Given the description of an element on the screen output the (x, y) to click on. 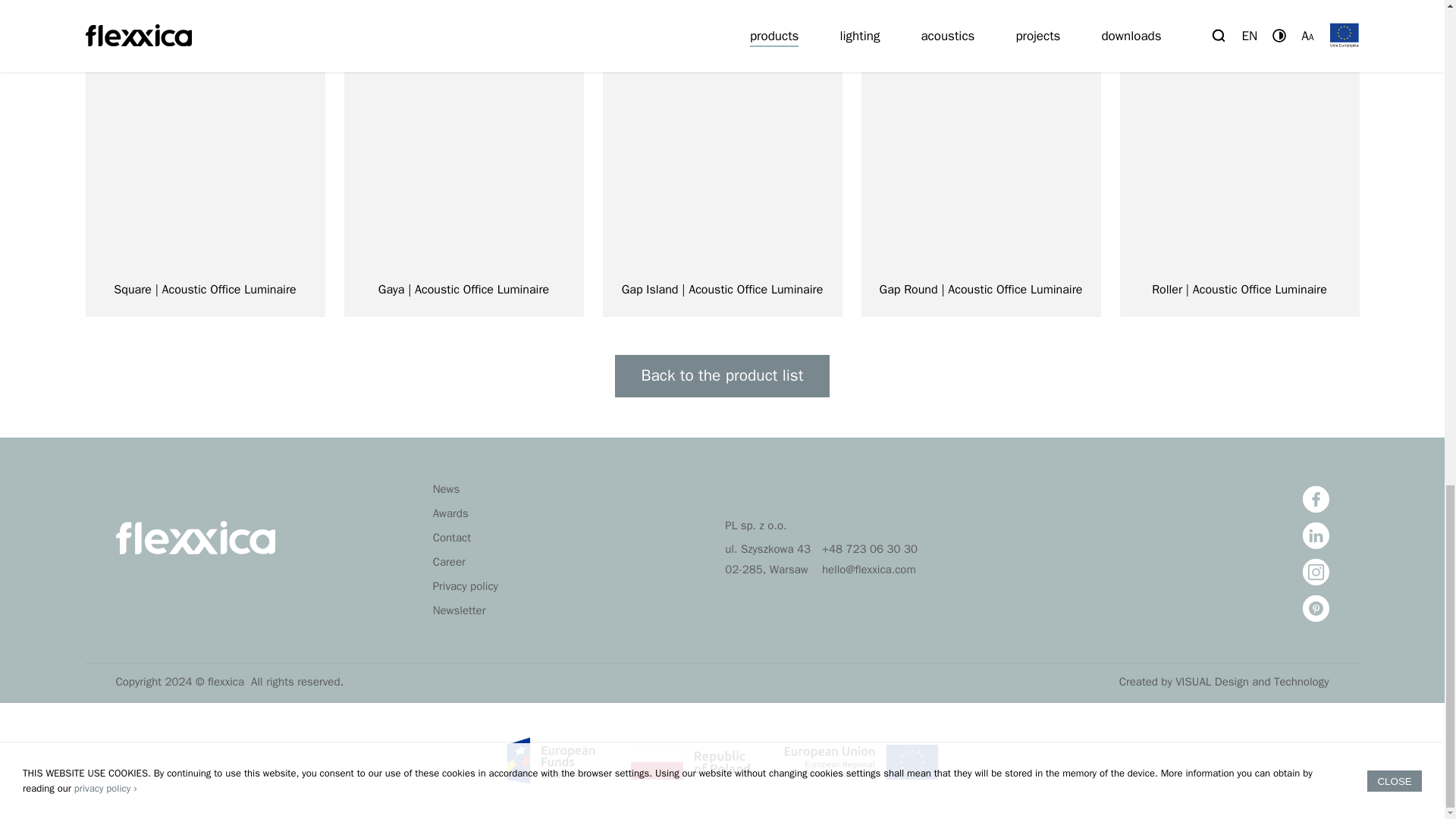
Facebook (1316, 499)
Instagram (1316, 571)
Linkedin (1316, 535)
Pinterest (1316, 608)
